Given the description of an element on the screen output the (x, y) to click on. 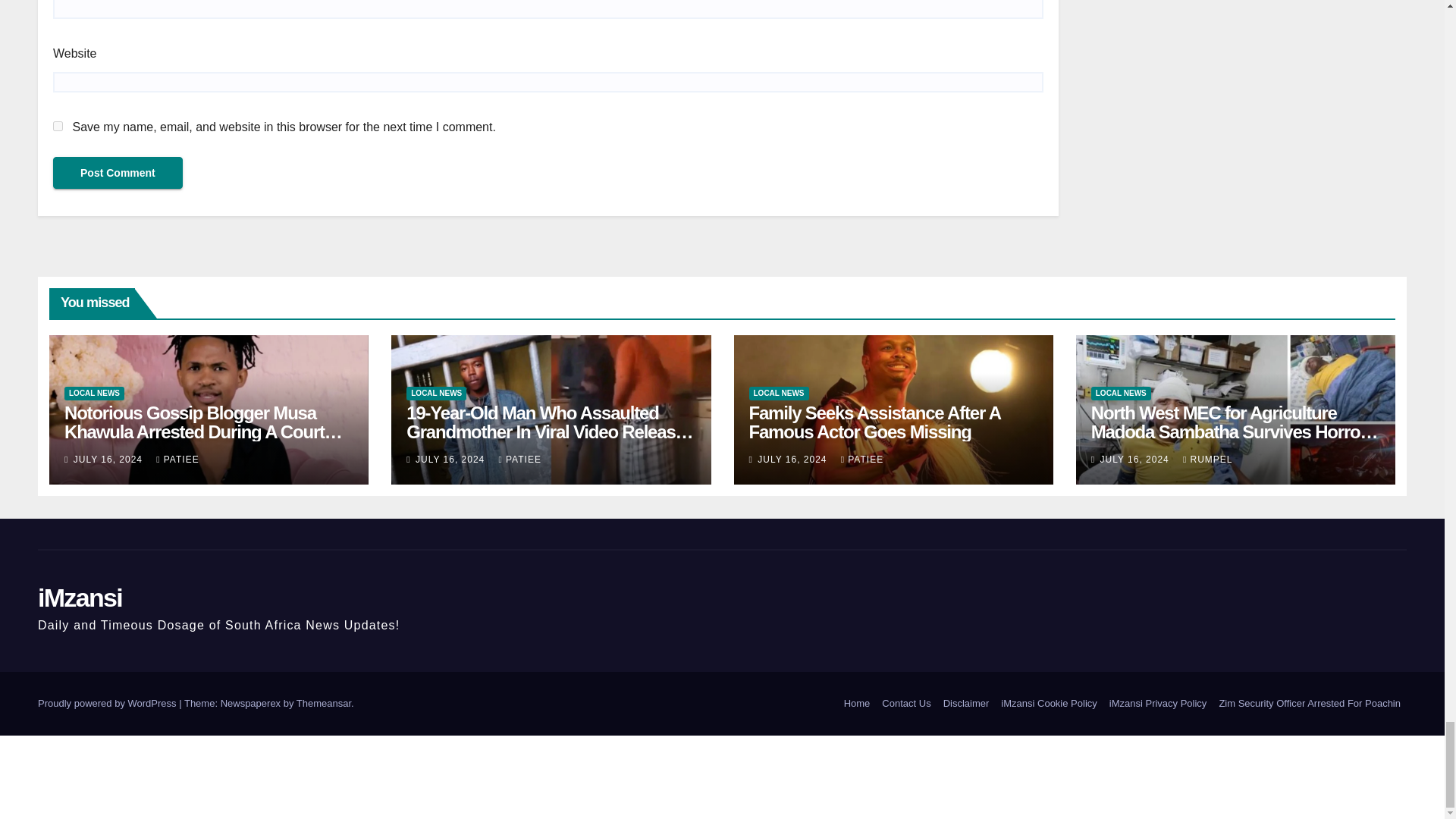
Post Comment (117, 173)
yes (57, 126)
